Given the description of an element on the screen output the (x, y) to click on. 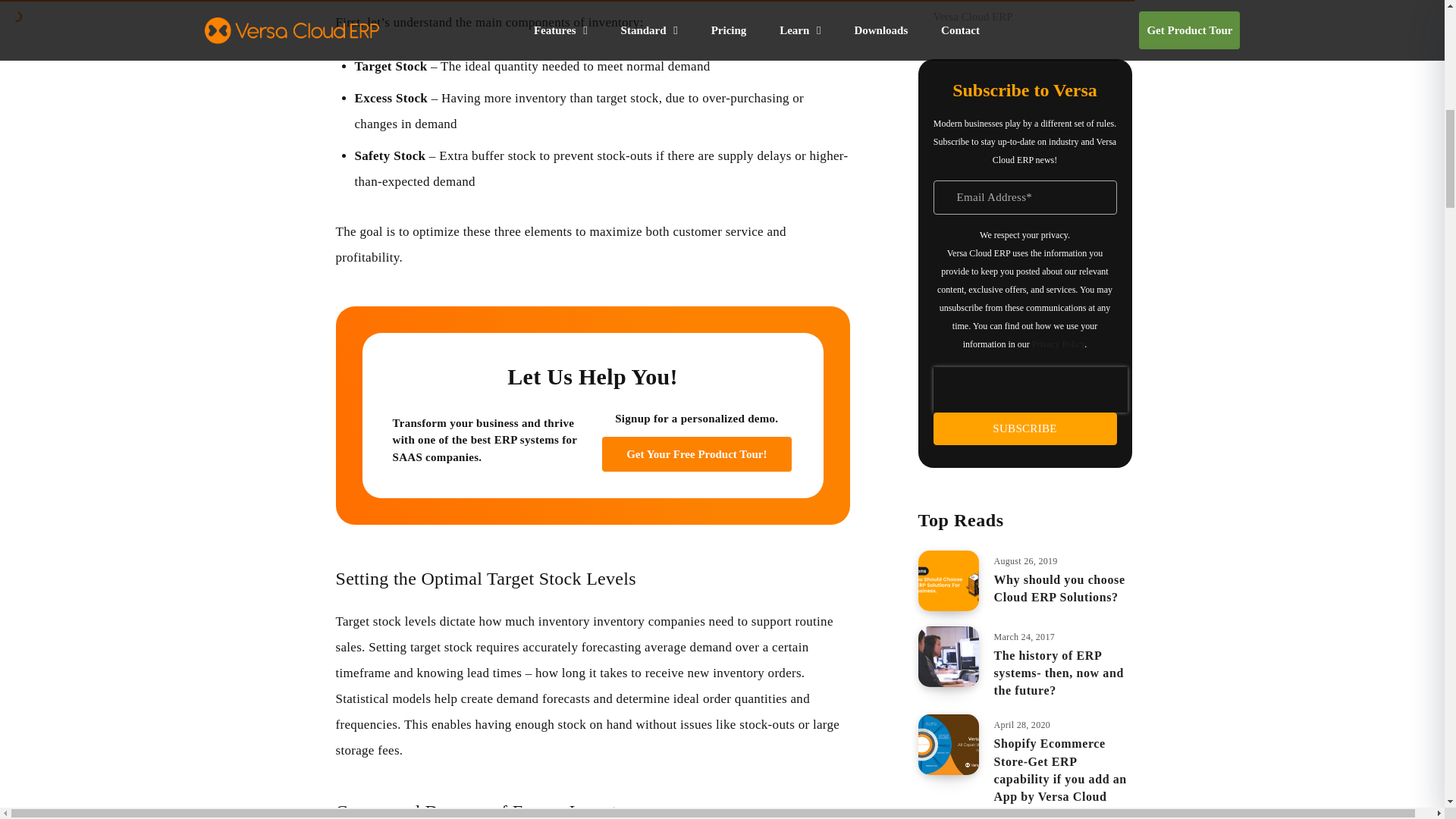
Subscribe (1024, 428)
